Given the description of an element on the screen output the (x, y) to click on. 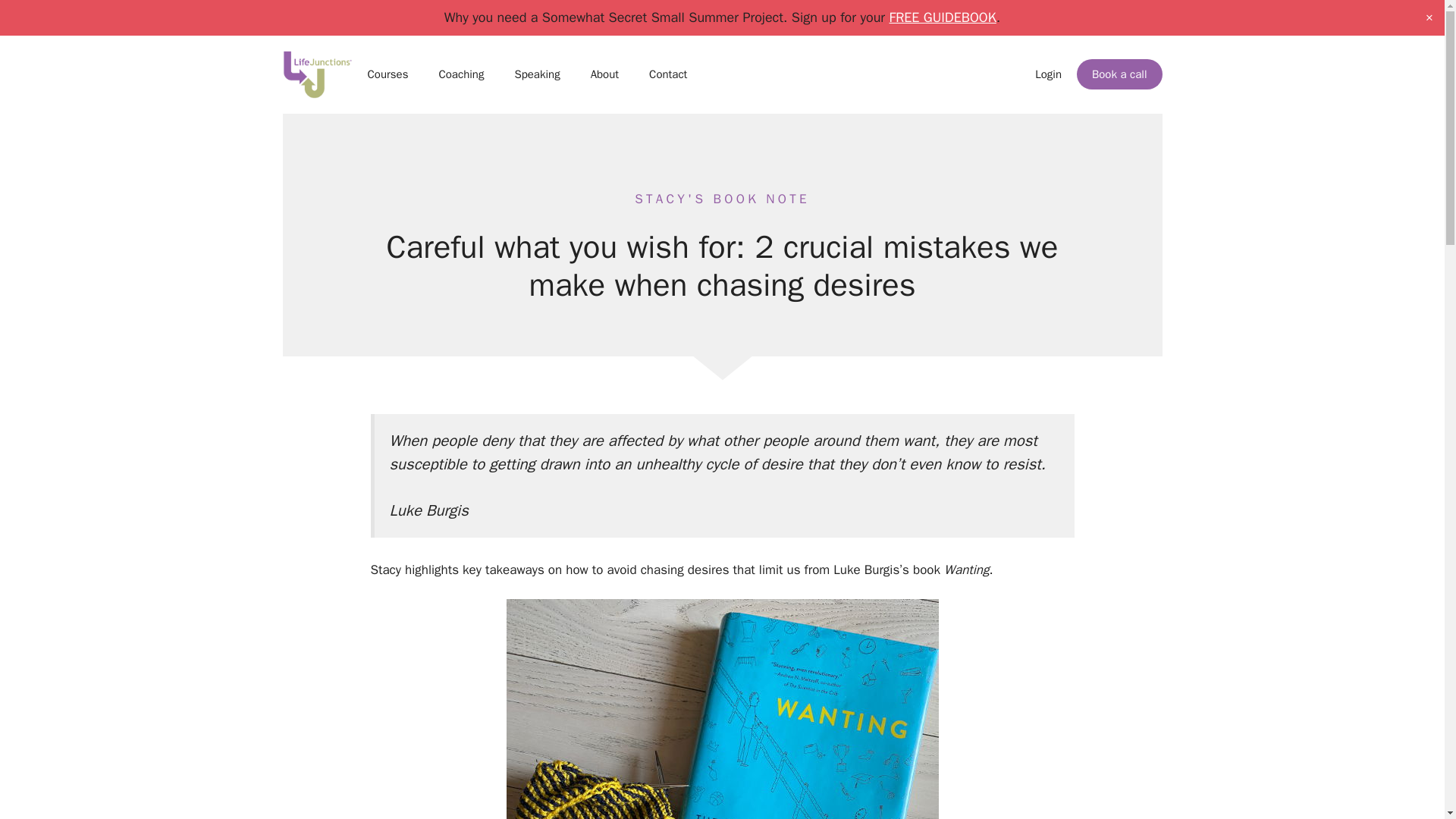
Coaching (461, 73)
Login (1048, 73)
About (604, 73)
Courses (387, 73)
Speaking (537, 73)
Contact (667, 73)
Book a call (1119, 73)
FREE GUIDEBOOK (941, 17)
